Given the description of an element on the screen output the (x, y) to click on. 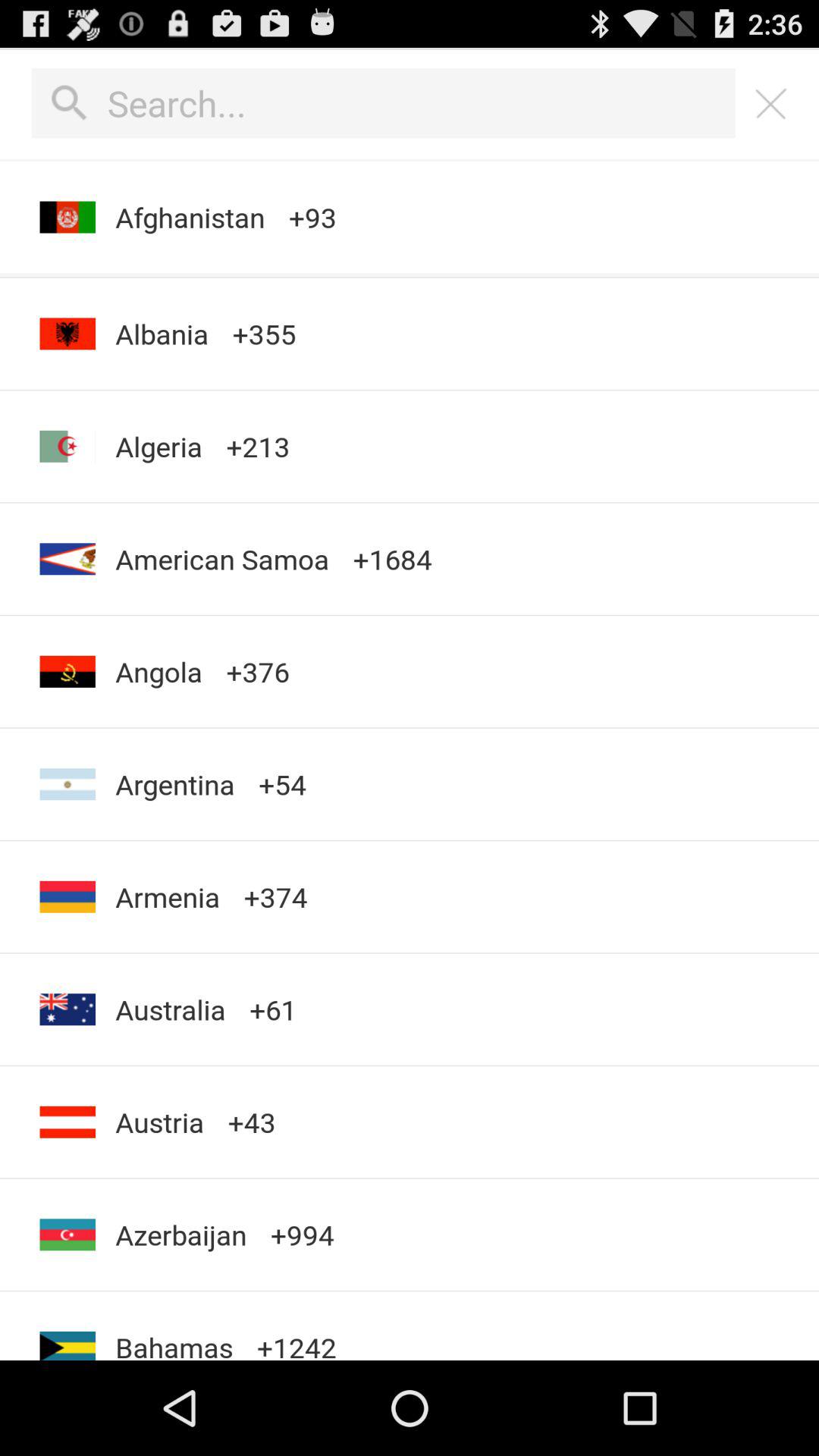
close the page (771, 103)
